Given the description of an element on the screen output the (x, y) to click on. 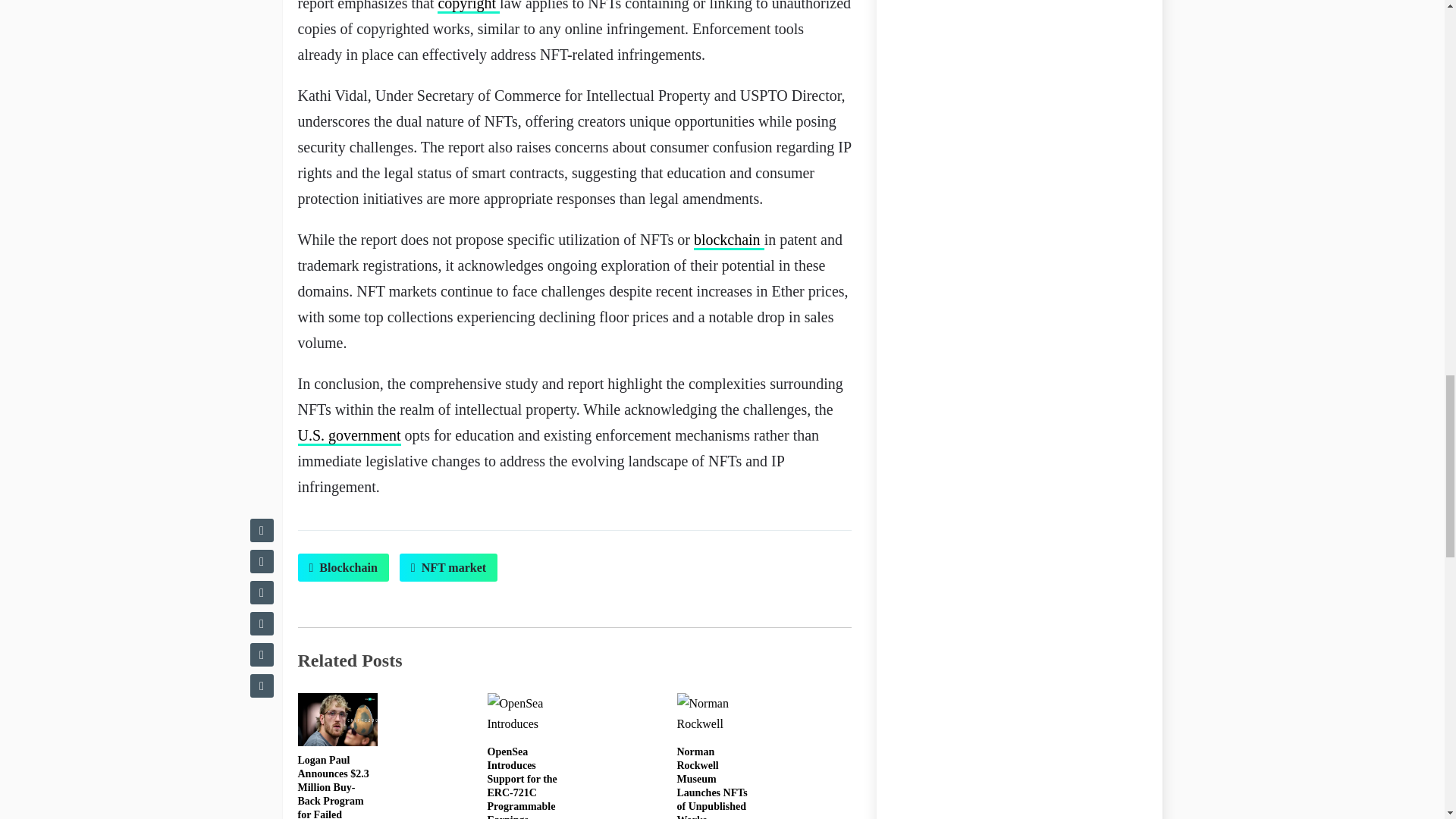
Norman Rockwell Museum Launches NFTs of Unpublished Works (711, 782)
